Given the description of an element on the screen output the (x, y) to click on. 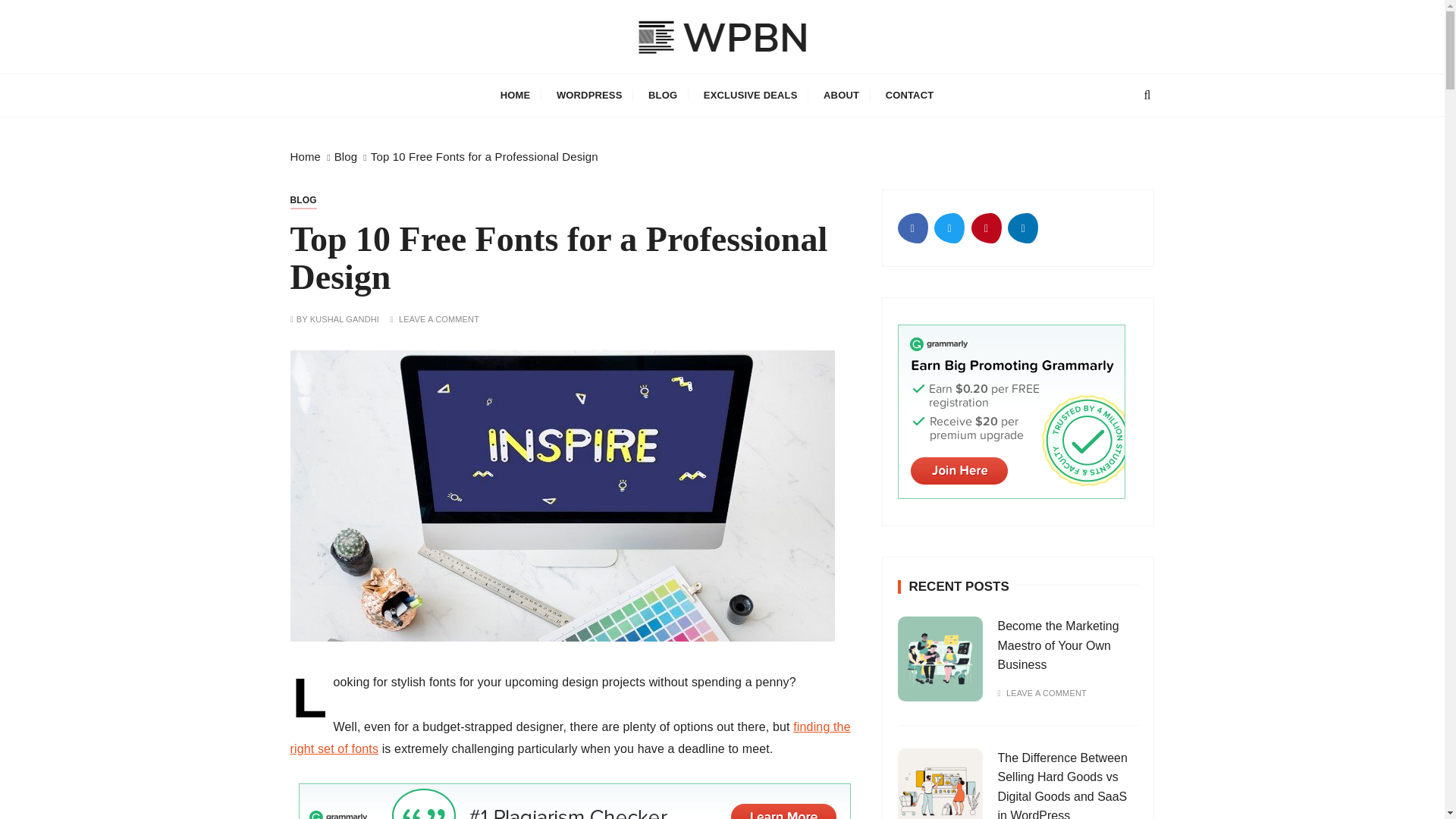
LEAVE A COMMENT (438, 319)
Home (304, 155)
CONTACT (909, 95)
KUSHAL GANDHI (344, 319)
WPBN (349, 83)
ABOUT (841, 95)
WORDPRESS (588, 95)
BLOG (662, 95)
Top 10 Free Fonts for a Professional Design (484, 155)
EXCLUSIVE DEALS (751, 95)
HOME (515, 95)
BLOG (302, 199)
finding the right set of fonts (569, 737)
Blog (346, 155)
